Given the description of an element on the screen output the (x, y) to click on. 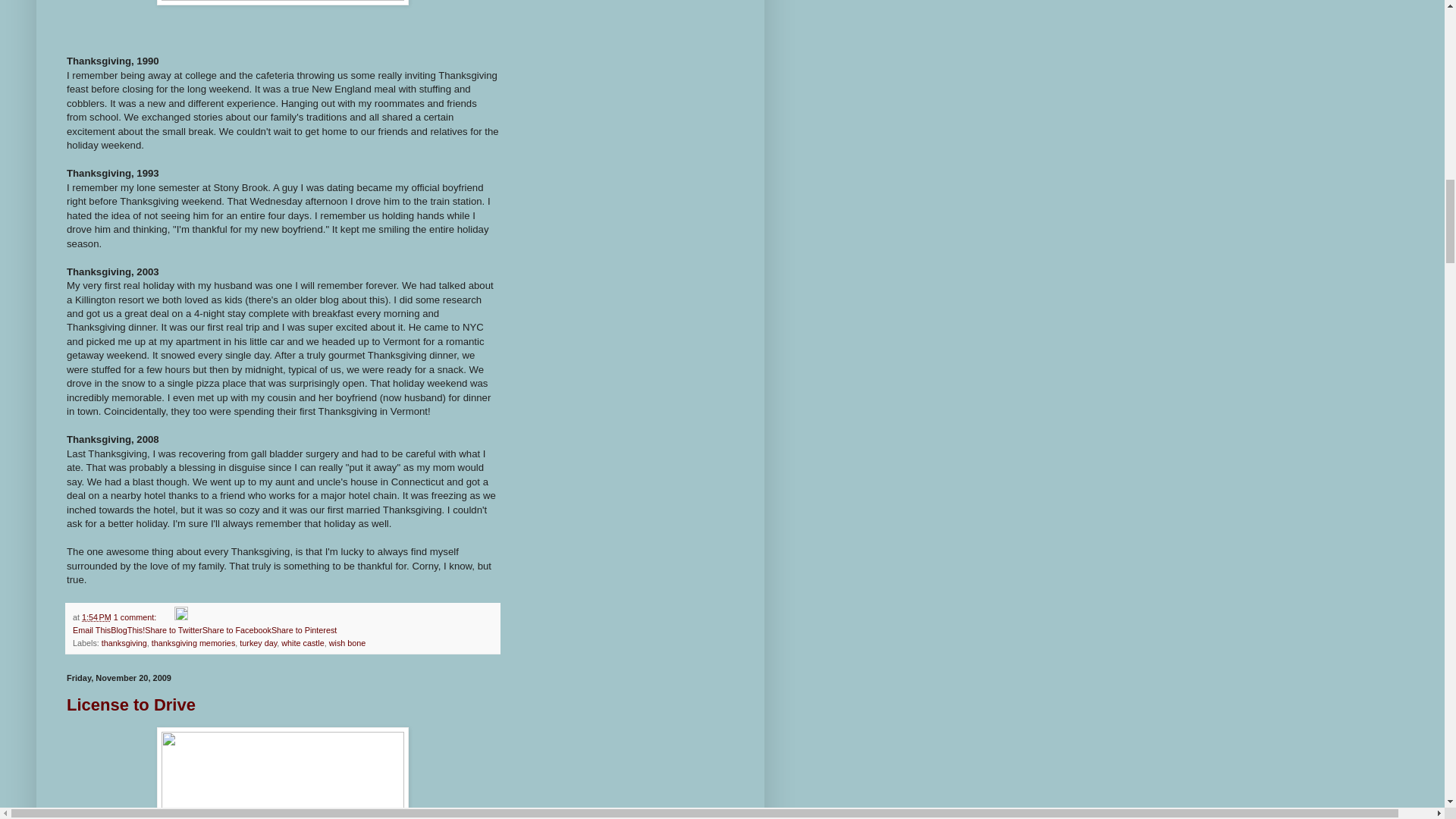
BlogThis! (127, 629)
thanksgiving memories (192, 642)
permanent link (96, 616)
Share to Pinterest (303, 629)
Email This (91, 629)
Share to Facebook (236, 629)
Share to Twitter (173, 629)
Email This (91, 629)
thanksgiving (124, 642)
turkey day (258, 642)
License to Drive (130, 704)
Edit Post (180, 616)
Share to Twitter (173, 629)
Email Post (166, 616)
